Given the description of an element on the screen output the (x, y) to click on. 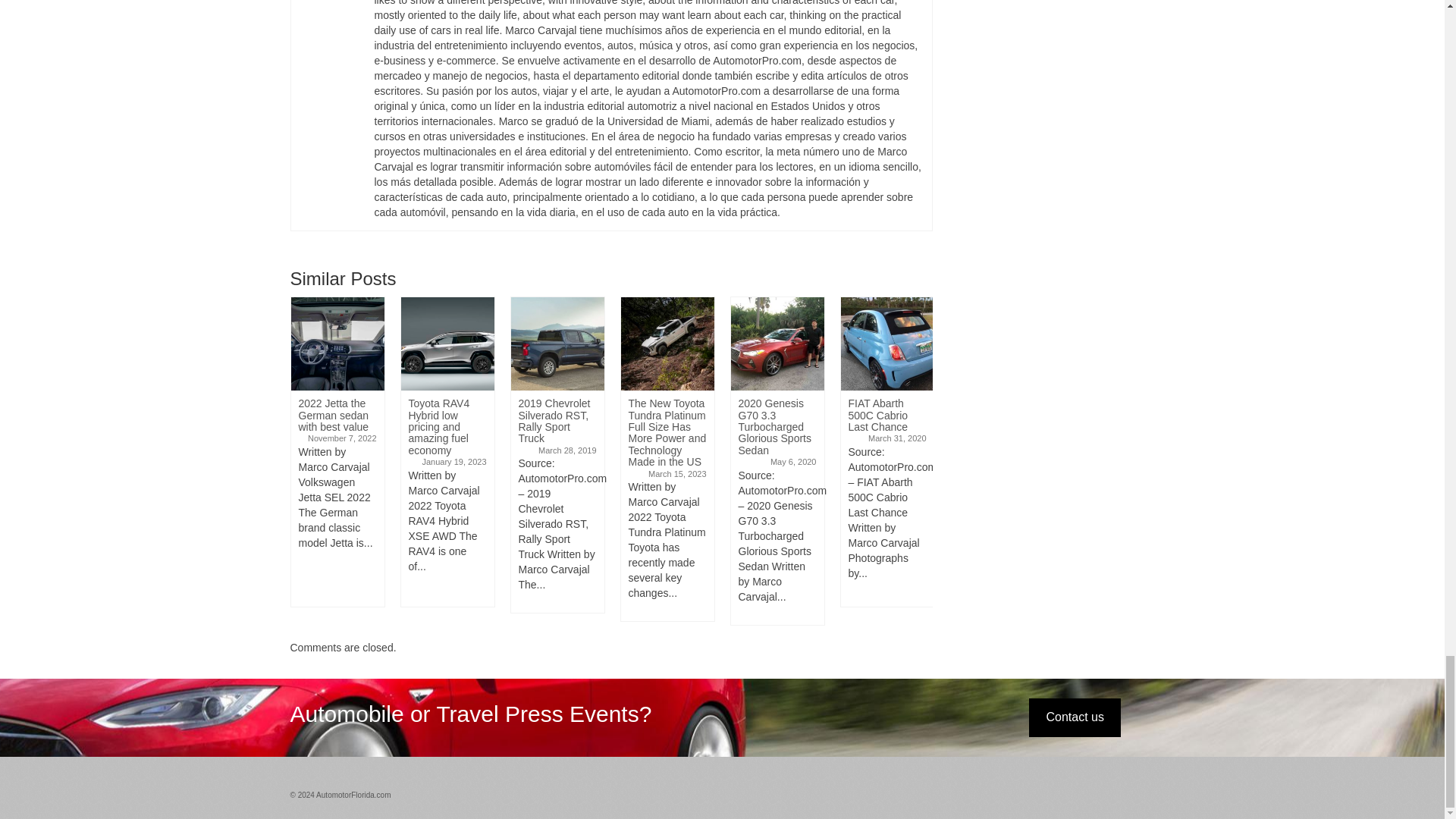
2022 Jetta the German sedan with best value (337, 343)
Toyota RAV4 Hybrid low pricing and amazing fuel economy (446, 343)
2019 Chevrolet Silverado RST, Rally Sport Truck (557, 343)
